Given the description of an element on the screen output the (x, y) to click on. 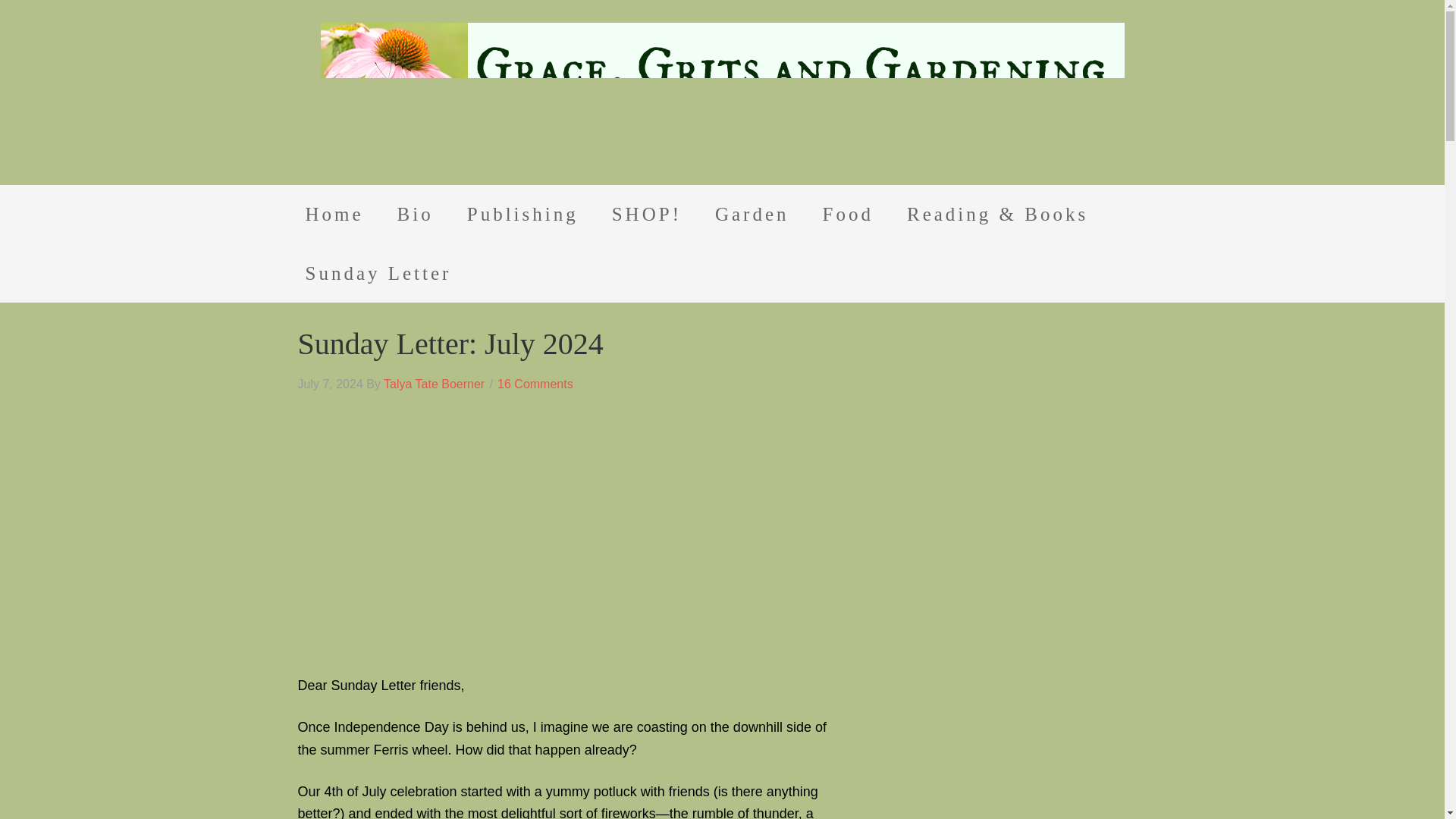
16 Comments (535, 383)
Publishing (522, 214)
Sunday Letter (377, 273)
Sunday Letter: July 2024 (449, 343)
Garden (752, 214)
Talya Tate Boerner (434, 383)
Food (848, 214)
Bio (414, 214)
SHOP! (646, 214)
grace grits and gardening (721, 95)
Home (333, 214)
